Given the description of an element on the screen output the (x, y) to click on. 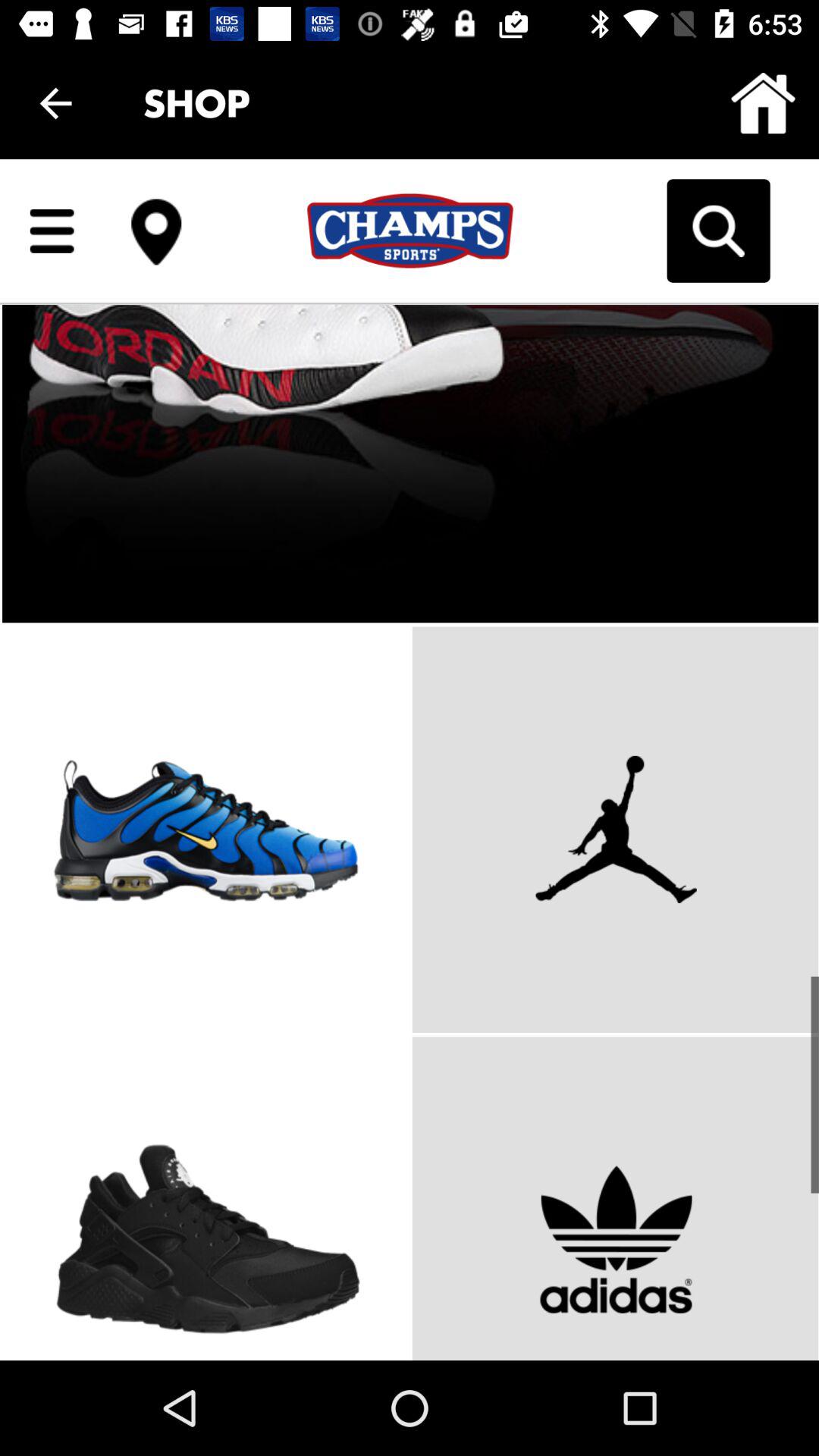
scroll down for more products (409, 759)
